Given the description of an element on the screen output the (x, y) to click on. 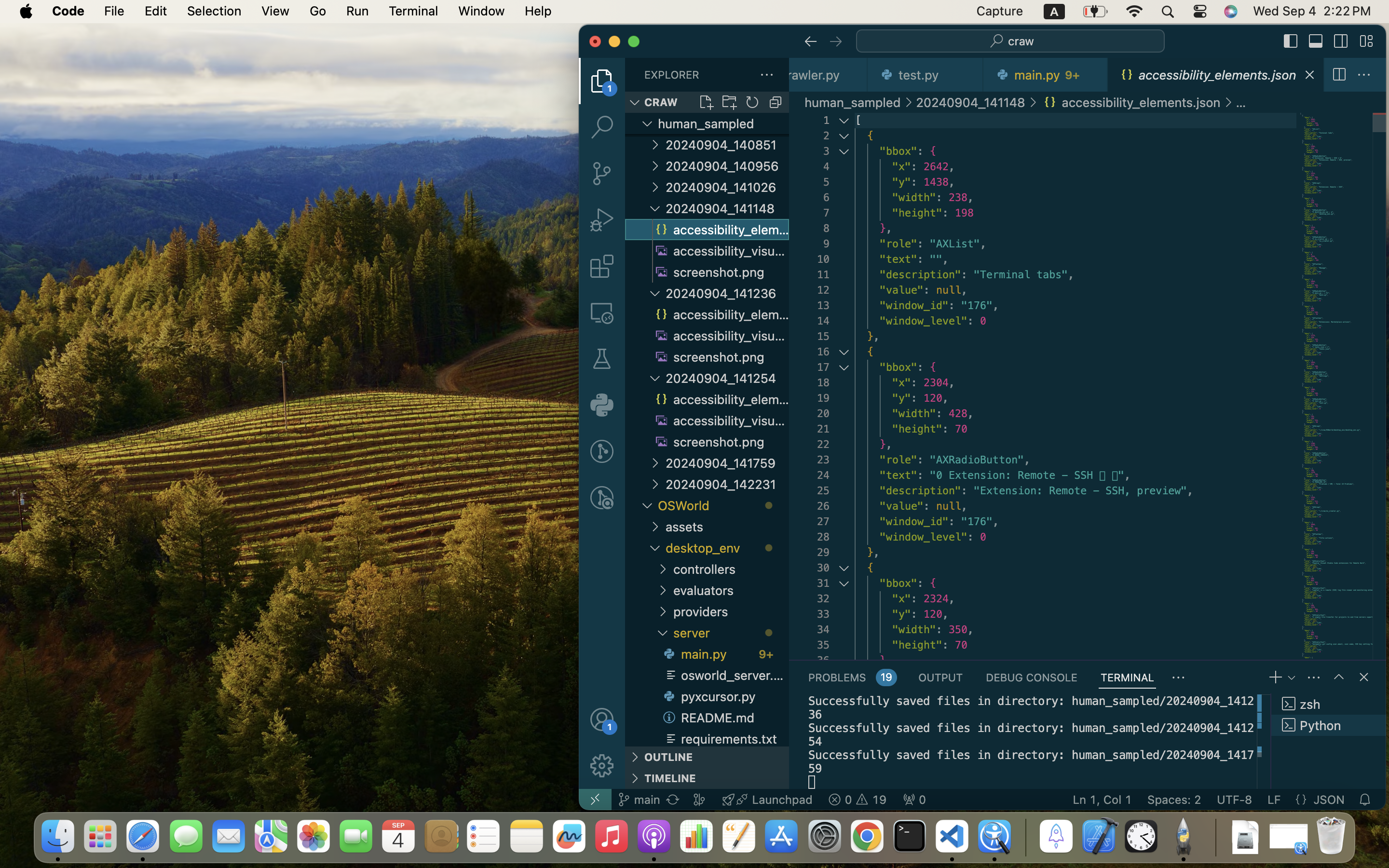
desktop_env  Element type: AXGroup (727, 547)
requirements.txt  Element type: AXGroup (724, 737)
 Element type: AXCheckBox (1338, 676)
accessibility_visualization.png  Element type: AXGroup (720, 250)
0 DEBUG CONSOLE Element type: AXRadioButton (1031, 676)
